Given the description of an element on the screen output the (x, y) to click on. 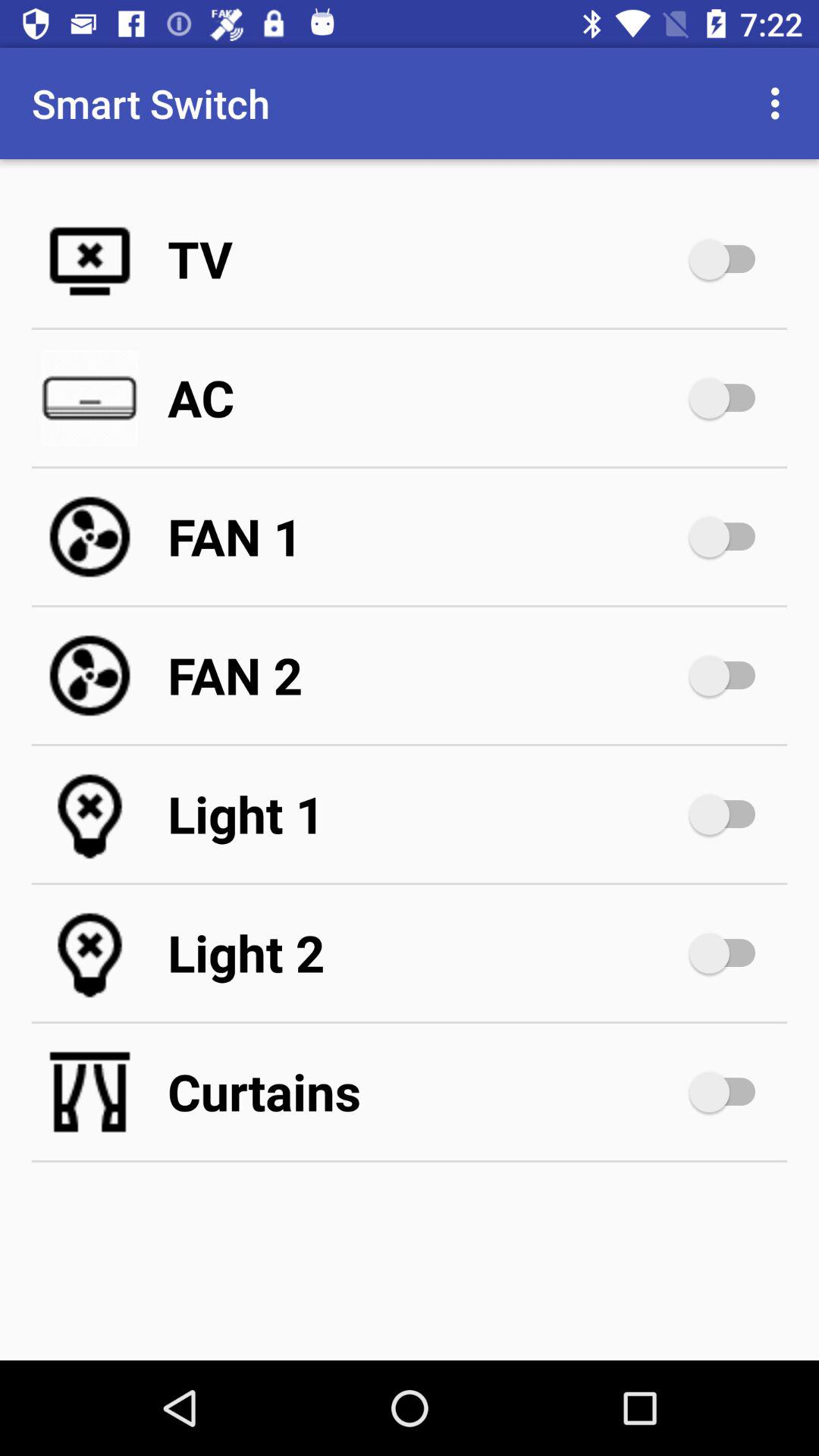
select the item above the light 2 item (424, 814)
